Given the description of an element on the screen output the (x, y) to click on. 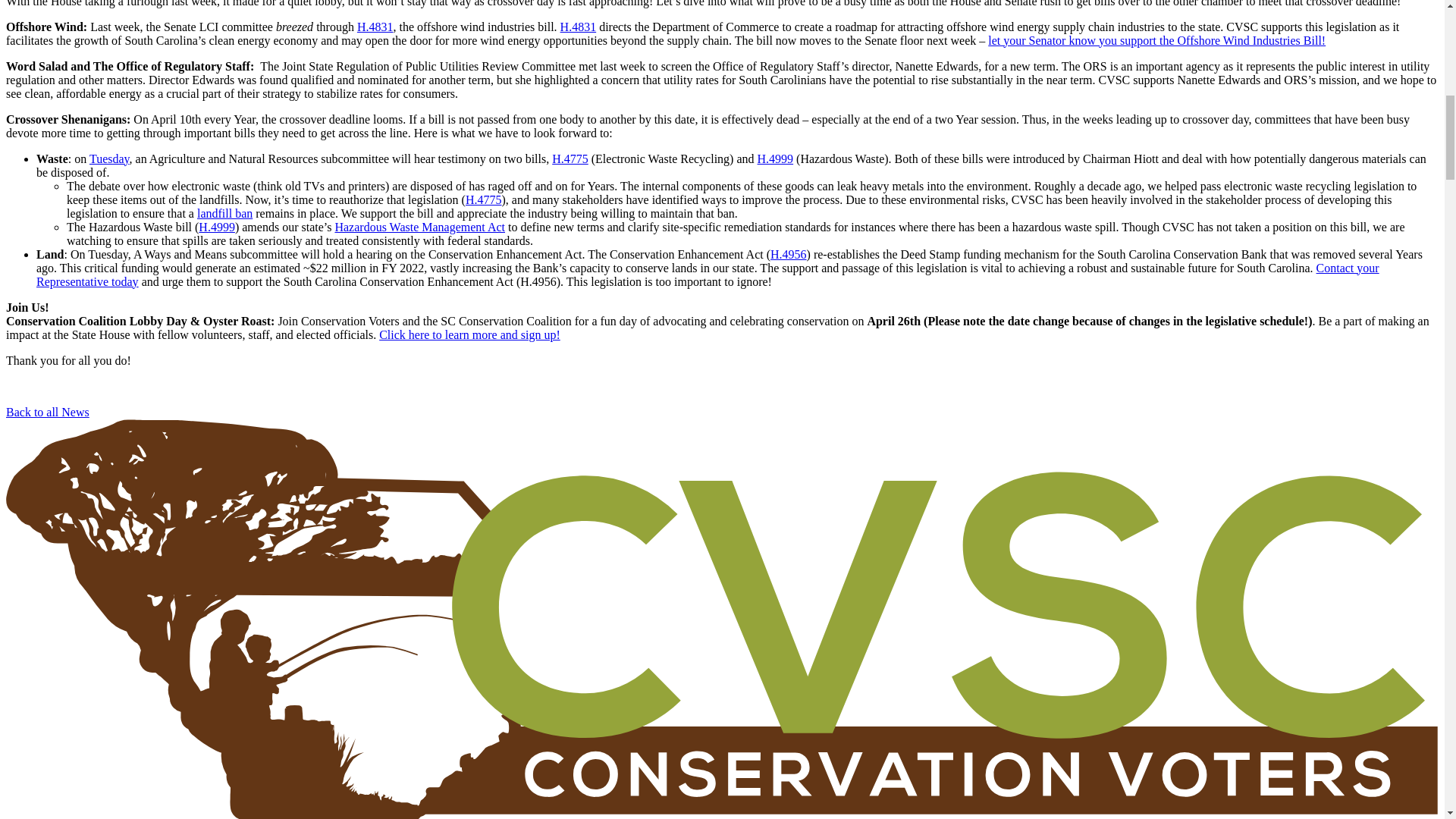
Contact your Representative today (707, 274)
H.4831 (374, 26)
H.4831 (578, 26)
Click here to learn more and sign up! (469, 334)
H.4999 (216, 226)
Back to all News (46, 411)
Tuesday (108, 158)
Hazardous Waste Management Act (419, 226)
H.4999 (775, 158)
landfill ban (223, 213)
H.4775 (569, 158)
H.4956 (788, 254)
H.4775 (483, 199)
